Given the description of an element on the screen output the (x, y) to click on. 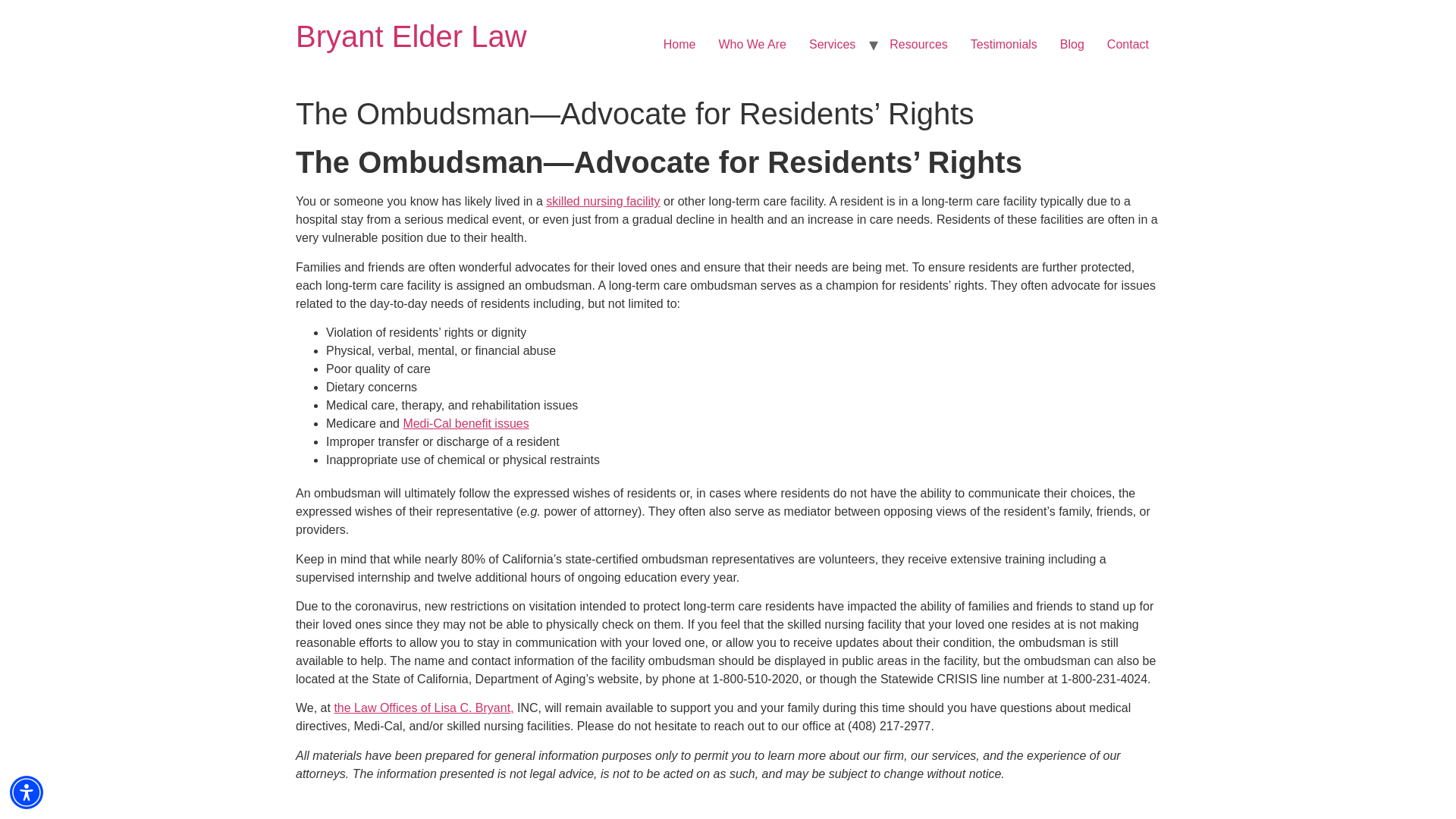
Who We Are (751, 44)
the Law Offices of Lisa C. Bryant, (423, 707)
Resources (917, 44)
skilled nursing facility (602, 201)
Blog (1072, 44)
Home (679, 44)
Services (831, 44)
Medi-Cal benefit issues (465, 422)
Accessibility Menu (26, 792)
Bryant Elder Law (411, 36)
Testimonials (1003, 44)
Contact (1128, 44)
Home (411, 36)
